Given the description of an element on the screen output the (x, y) to click on. 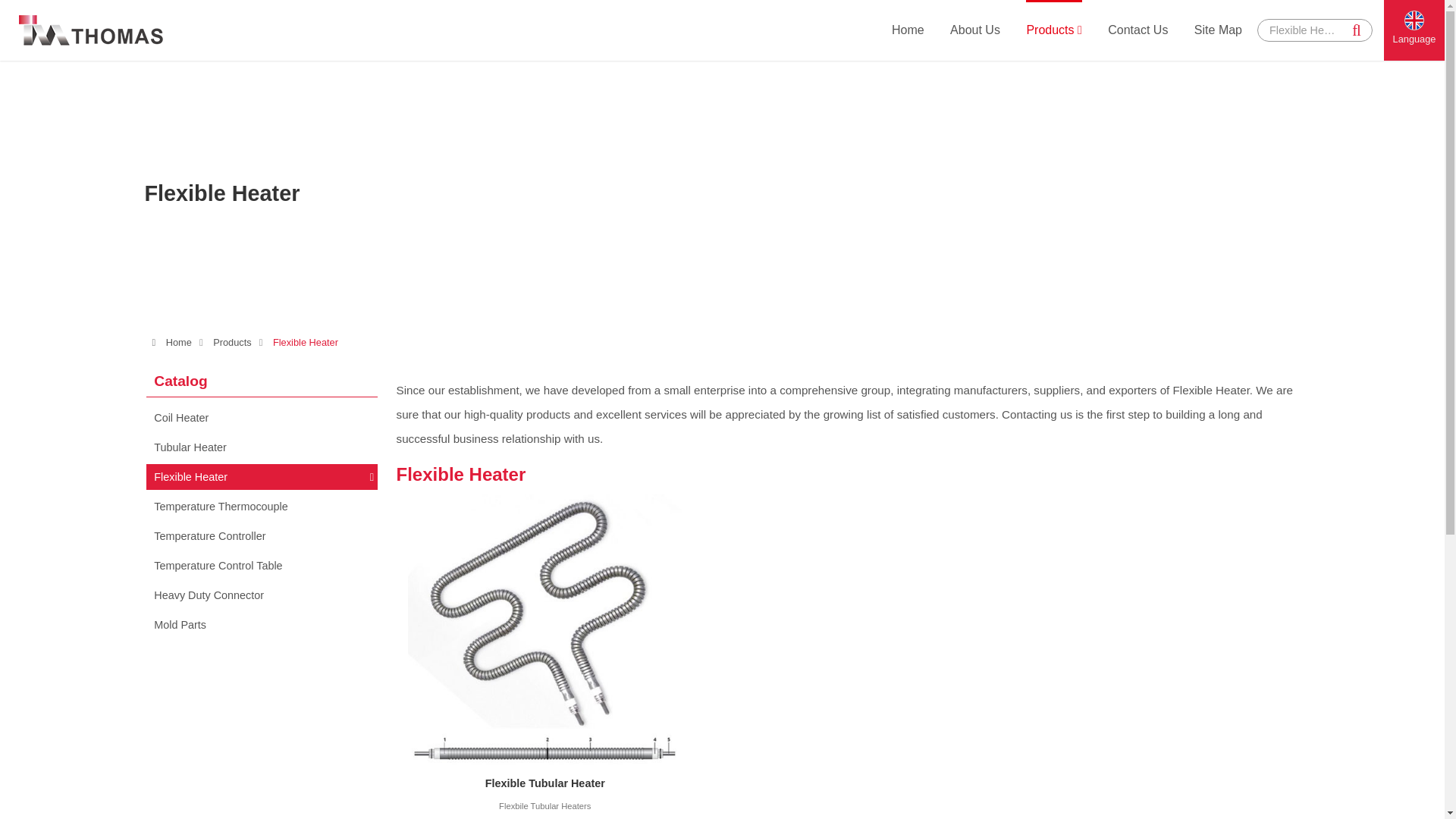
Flexible Heater (1303, 29)
THOMAS CO., LTD. (90, 30)
Products (1053, 28)
Search (1356, 29)
search (1356, 29)
Flexible Heater (1303, 29)
